Given the description of an element on the screen output the (x, y) to click on. 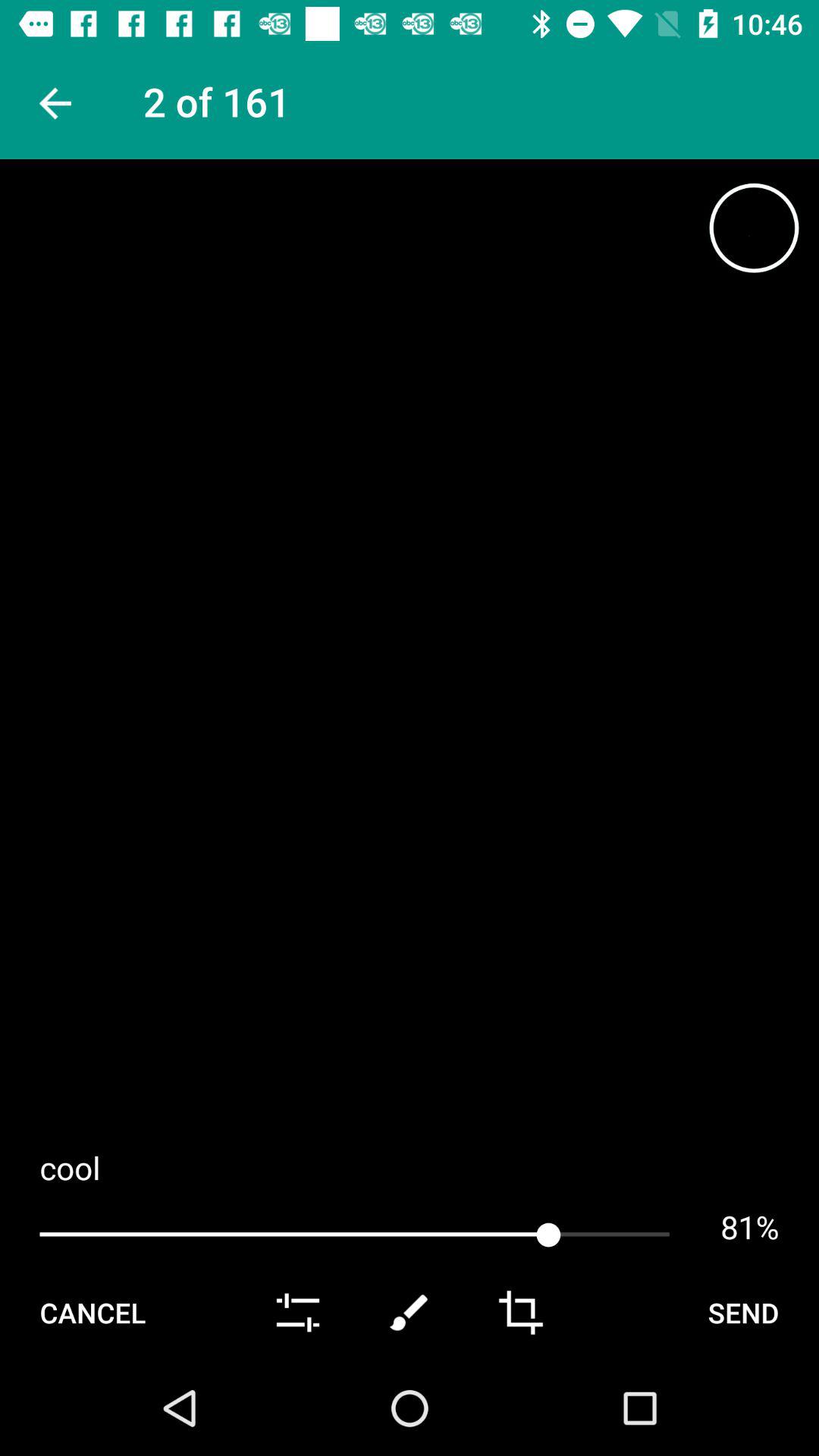
draw (409, 1312)
